Given the description of an element on the screen output the (x, y) to click on. 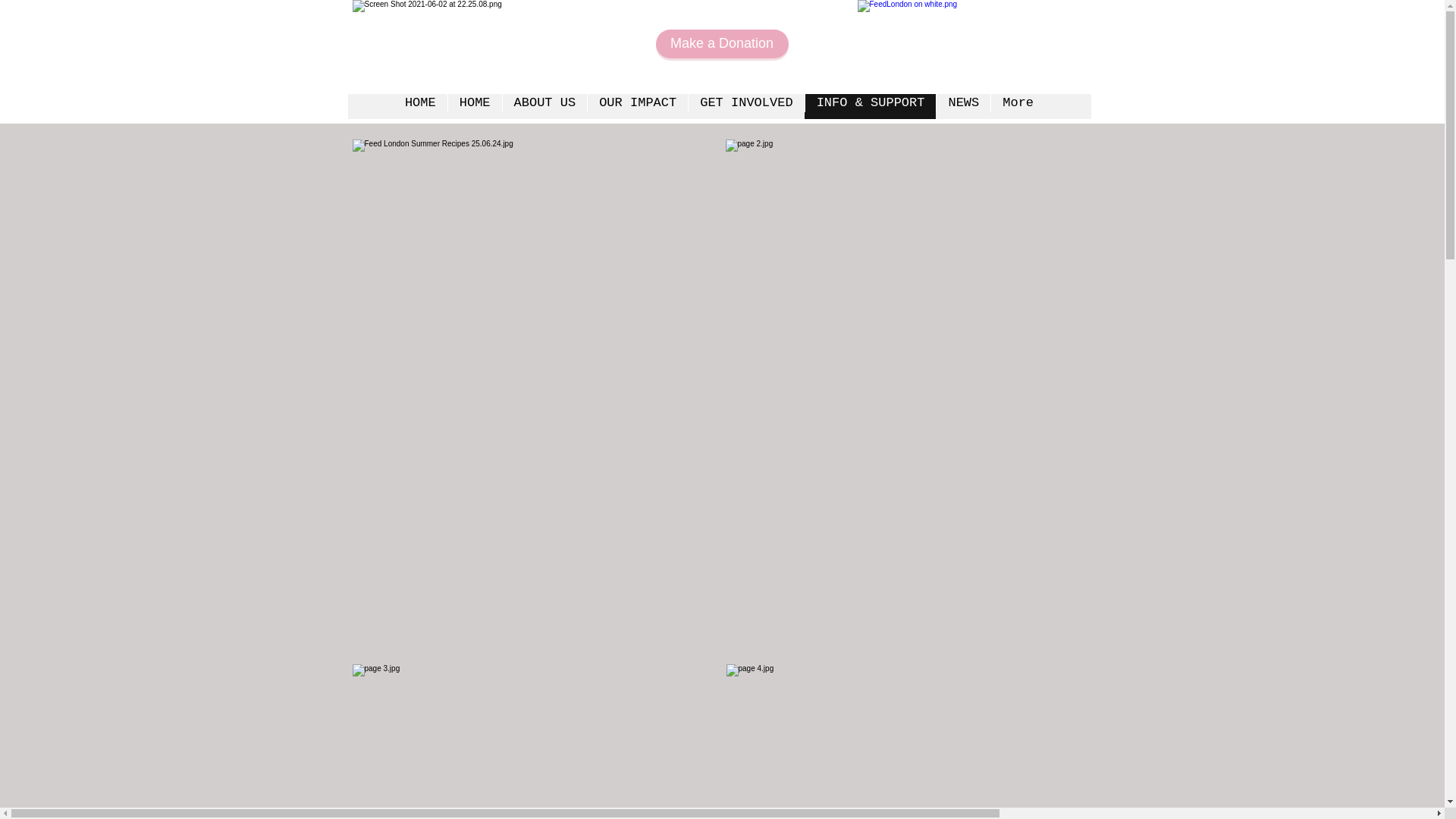
Make a Donation (721, 43)
GET INVOLVED (745, 106)
HOME (474, 106)
HOME (419, 106)
OUR IMPACT (636, 106)
ABOUT US (545, 106)
NEWS (963, 106)
